Given the description of an element on the screen output the (x, y) to click on. 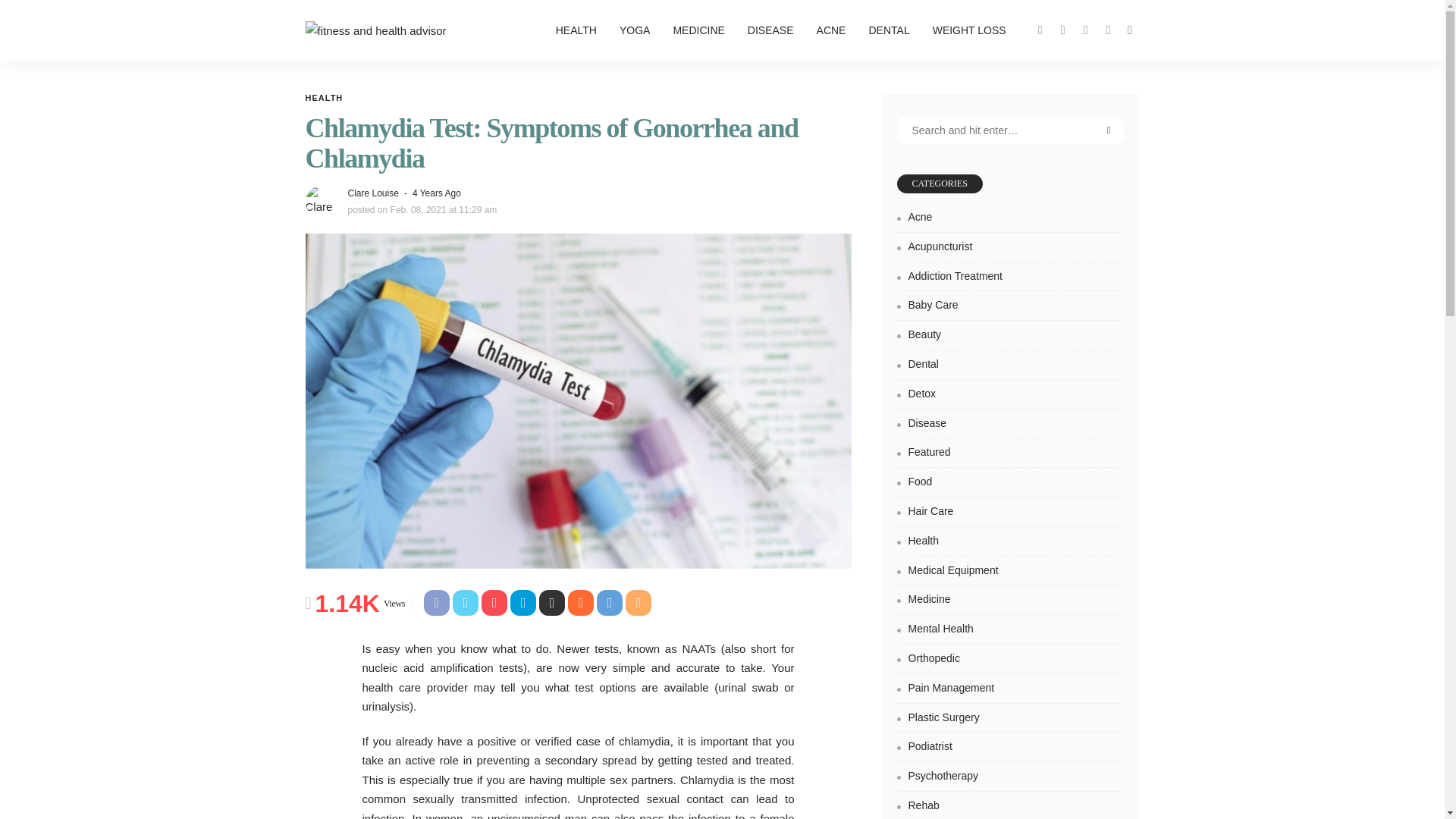
DISEASE (770, 30)
Clare Louise (372, 192)
HEALTH (576, 30)
search for: (1010, 130)
WEIGHT LOSS (969, 30)
fitness and health advisor (374, 30)
HEALTH (323, 98)
Health (323, 98)
DENTAL (888, 30)
MEDICINE (698, 30)
